Given the description of an element on the screen output the (x, y) to click on. 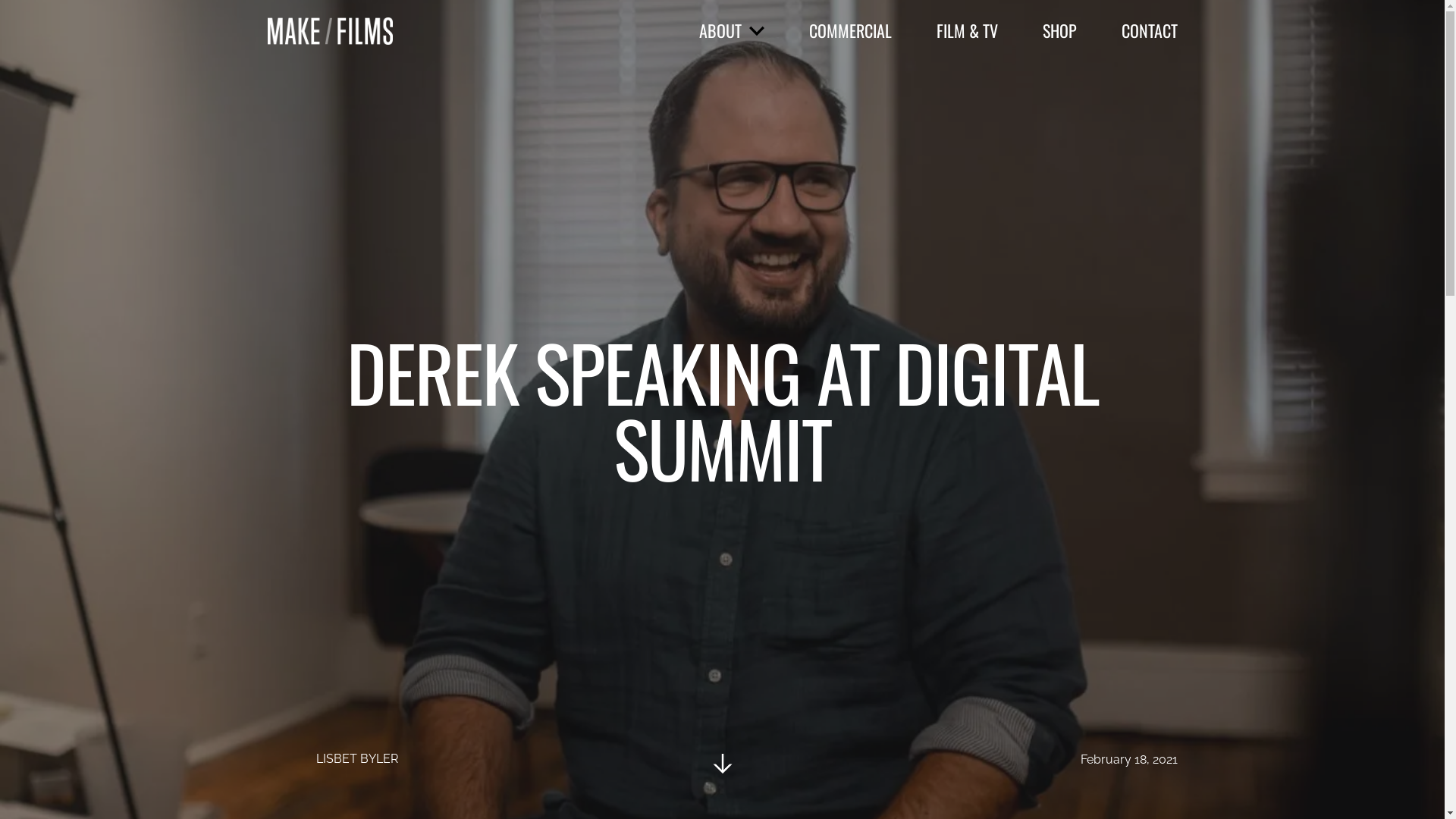
FILM & TV Element type: text (966, 30)
SHOP Element type: text (1058, 30)
CONTACT Element type: text (1148, 30)
COMMERCIAL Element type: text (849, 30)
